Given the description of an element on the screen output the (x, y) to click on. 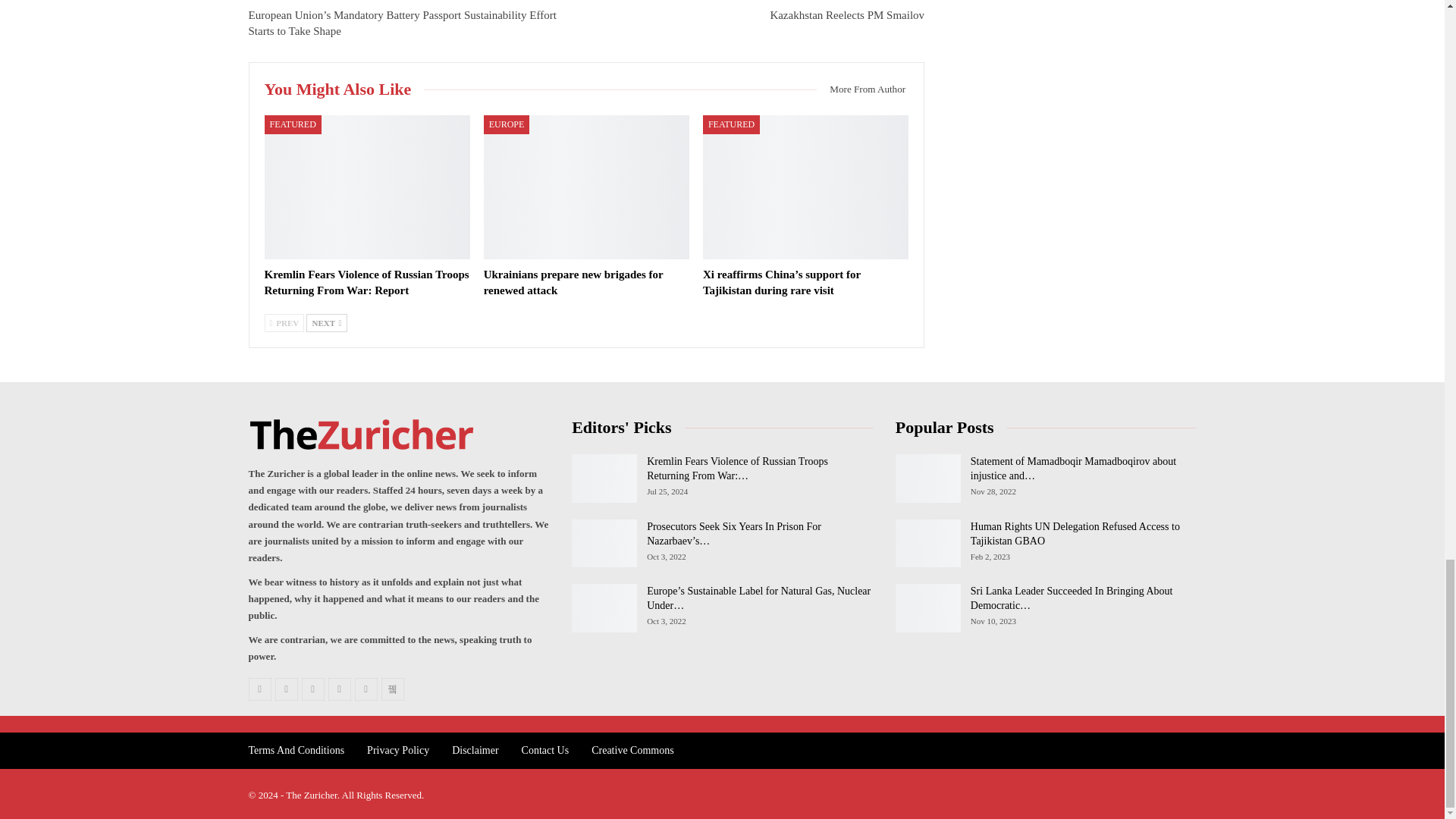
Next (325, 322)
Previous (283, 322)
Ukrainians prepare new brigades for renewed attack (585, 187)
Ukrainians prepare new brigades for renewed attack (573, 282)
